Given the description of an element on the screen output the (x, y) to click on. 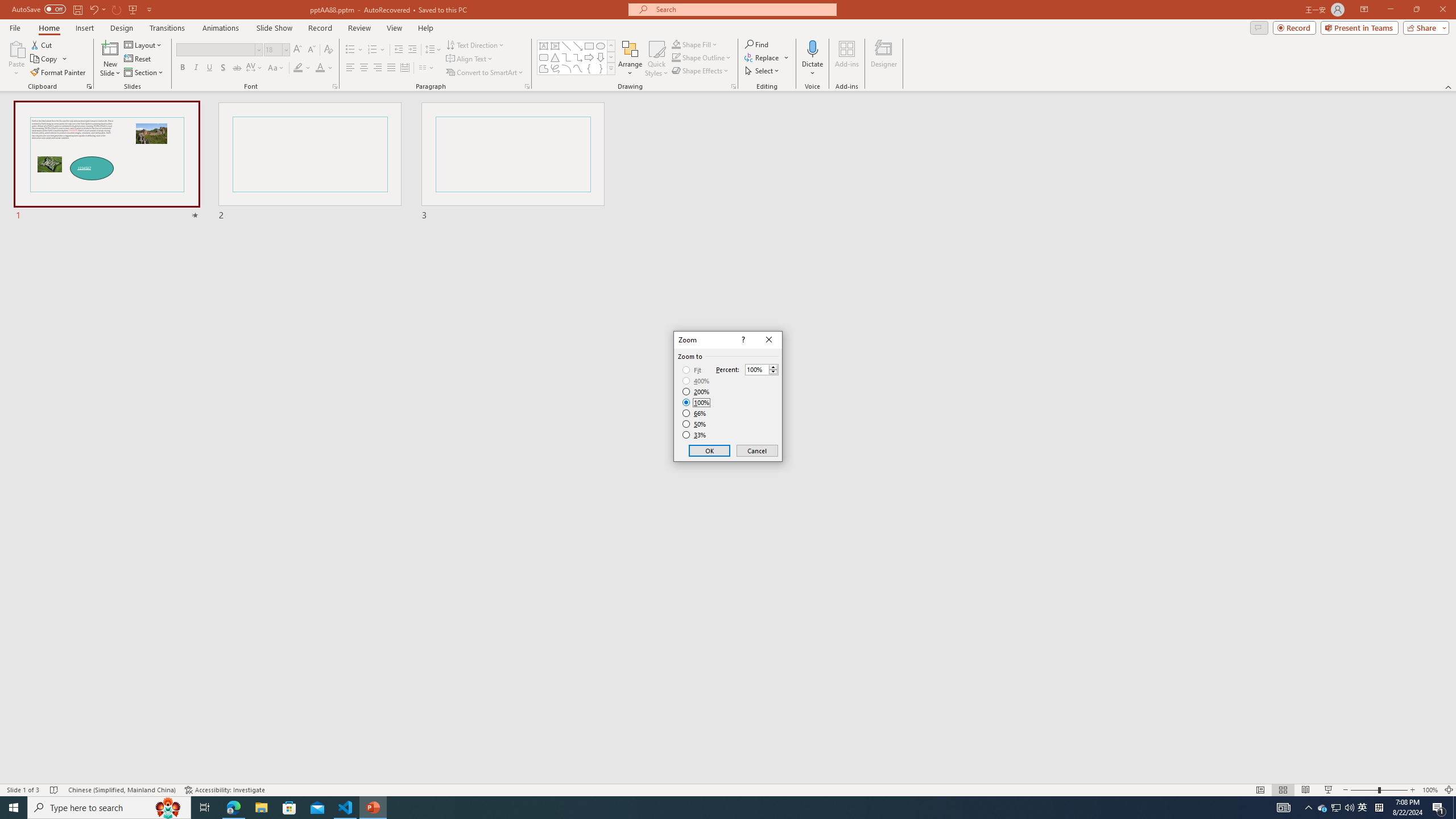
100% (696, 402)
400% (696, 380)
